Given the description of an element on the screen output the (x, y) to click on. 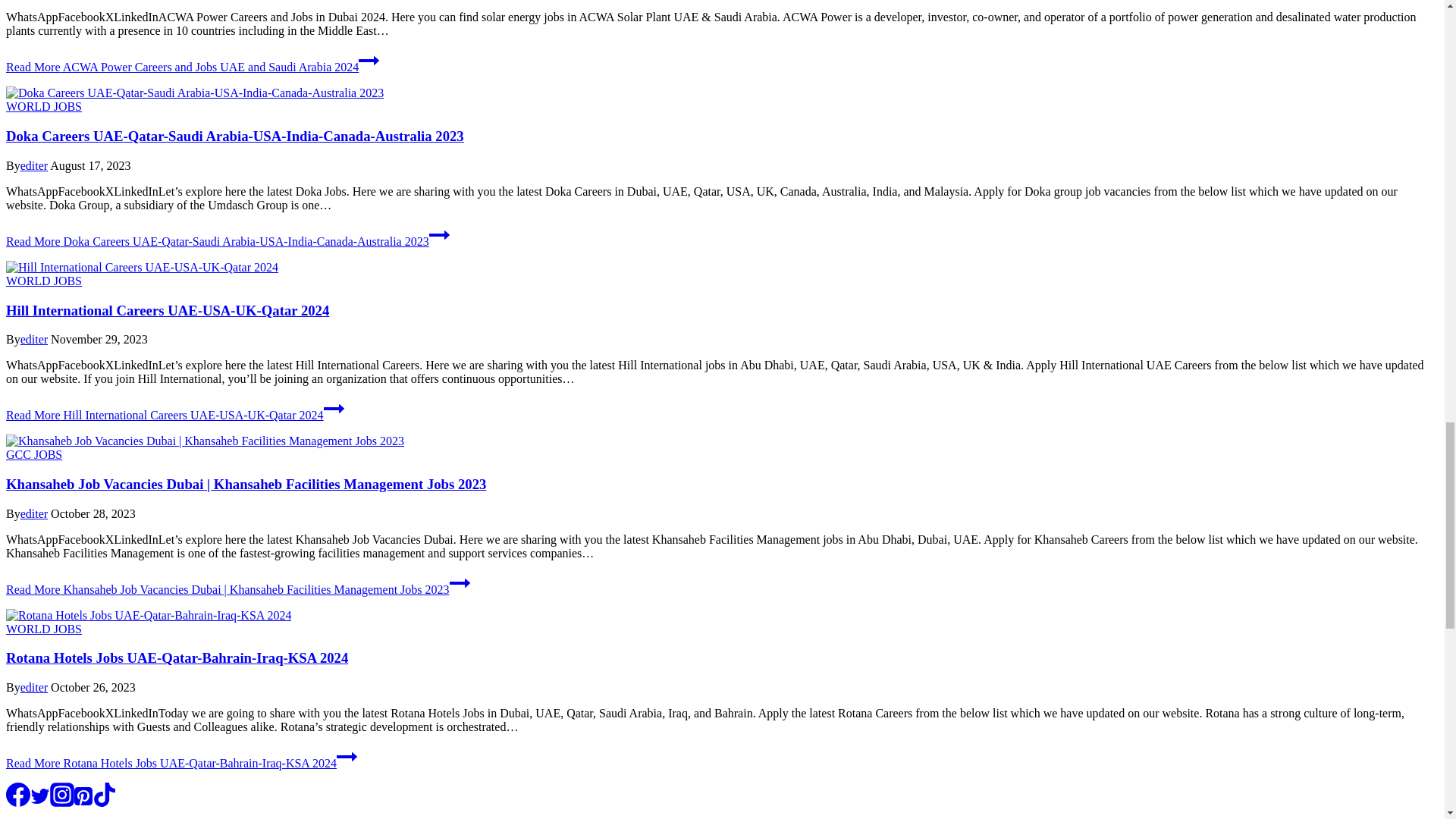
Continue (333, 408)
TikTok (104, 794)
Facebook (17, 794)
Instagram (61, 794)
Continue (439, 234)
Continue (346, 756)
Twitter (39, 795)
Continue (459, 582)
Continue (368, 60)
